Given the description of an element on the screen output the (x, y) to click on. 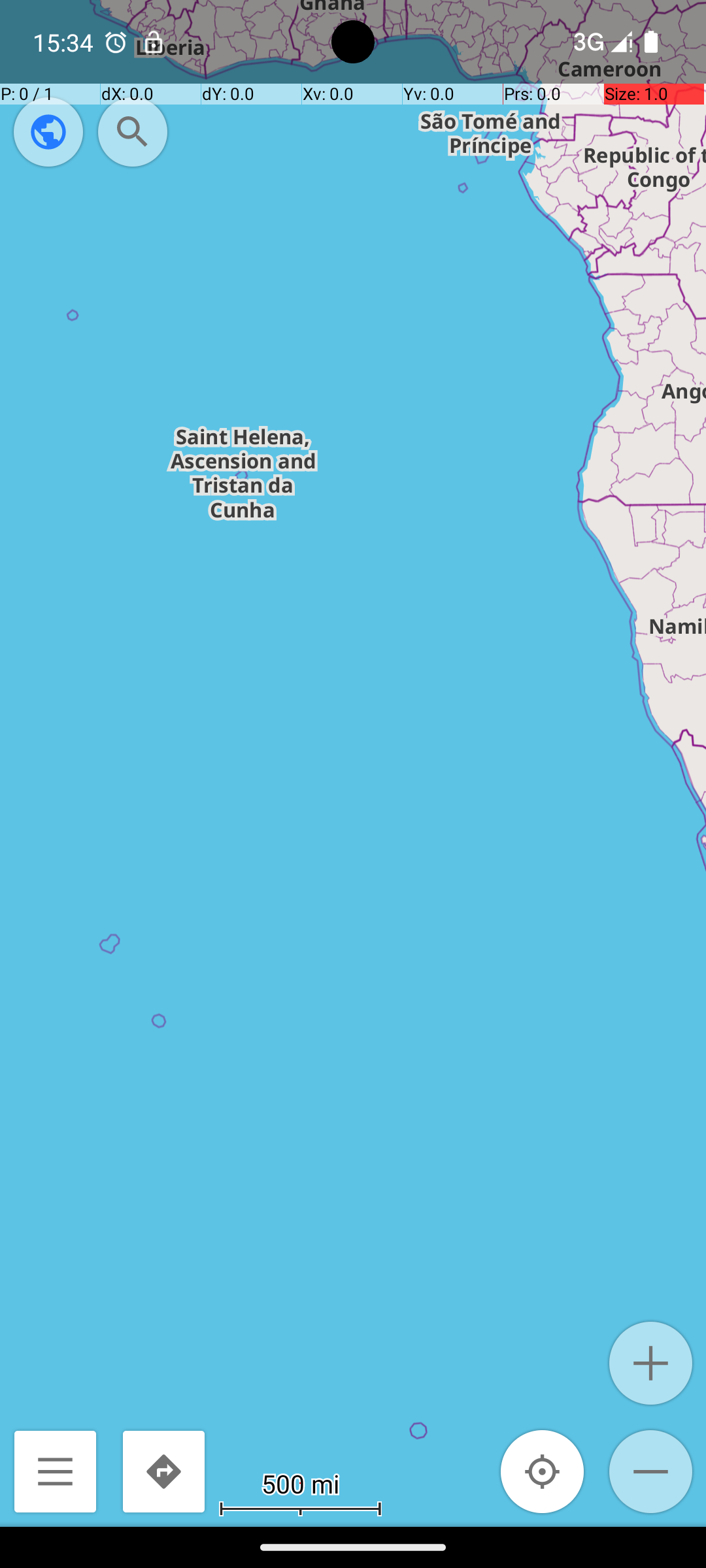
500 mi Element type: android.widget.TextView (299, 1483)
